Given the description of an element on the screen output the (x, y) to click on. 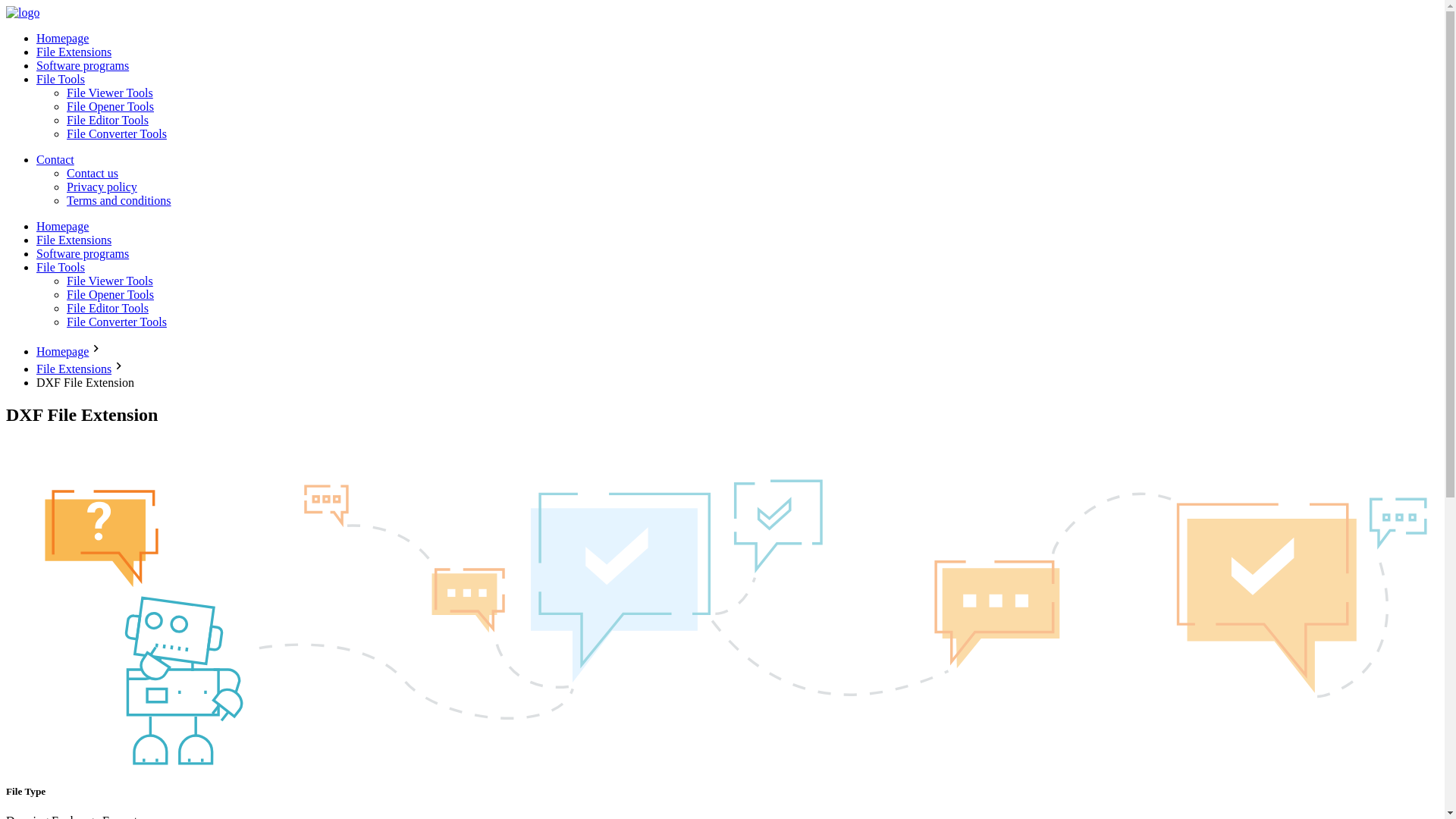
Homepage (62, 226)
Homepage (62, 38)
File Converter Tools (116, 321)
File Editor Tools (107, 119)
Software programs (82, 253)
Privacy policy (101, 186)
Homepage (62, 350)
File Extensions (74, 51)
Contact us (91, 173)
File Opener Tools (110, 294)
Contact (55, 159)
File Extensions (74, 368)
File Viewer Tools (109, 280)
File Editor Tools (107, 308)
File Tools (60, 267)
